Given the description of an element on the screen output the (x, y) to click on. 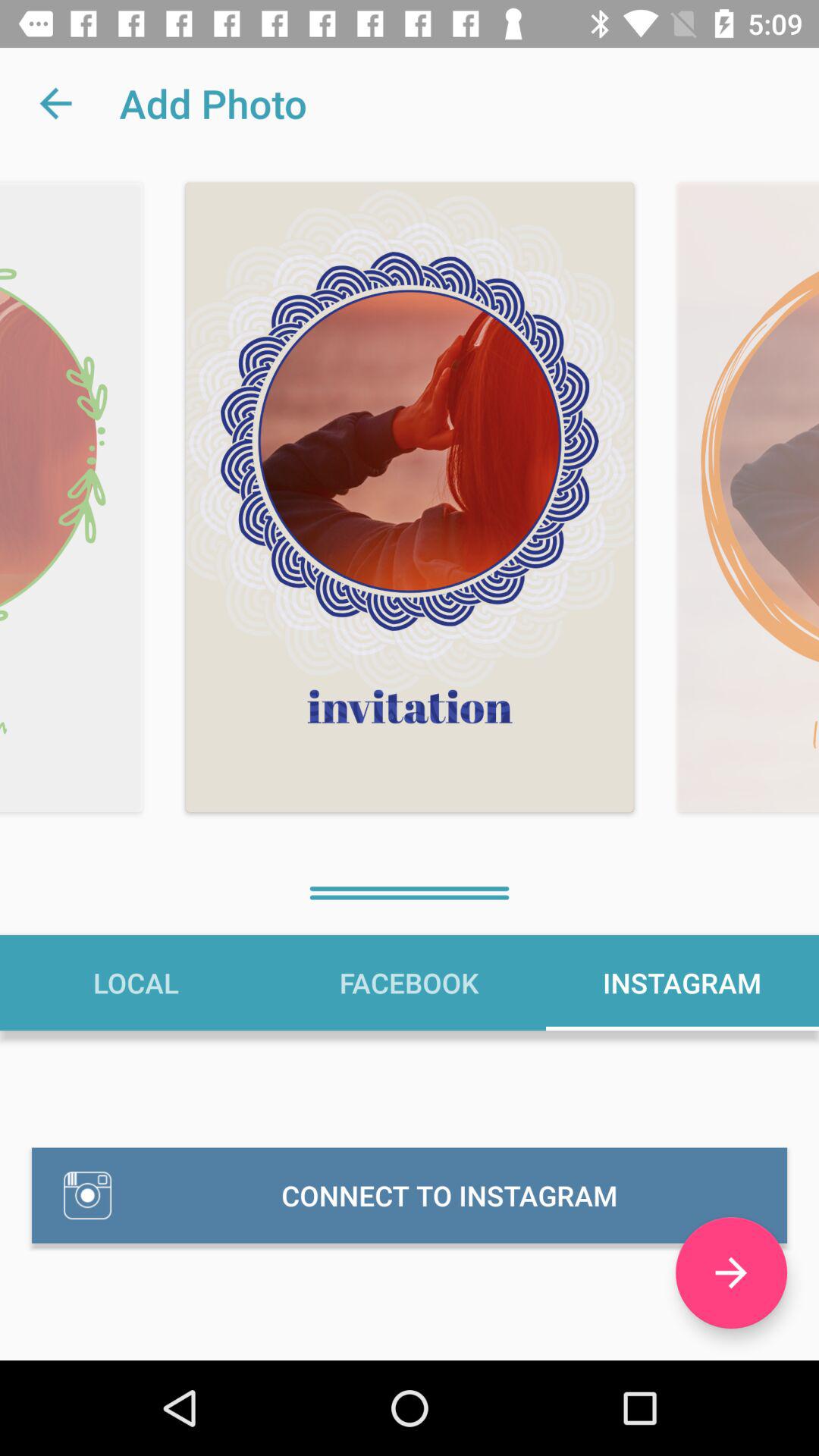
tap the item below the instagram item (731, 1272)
